Given the description of an element on the screen output the (x, y) to click on. 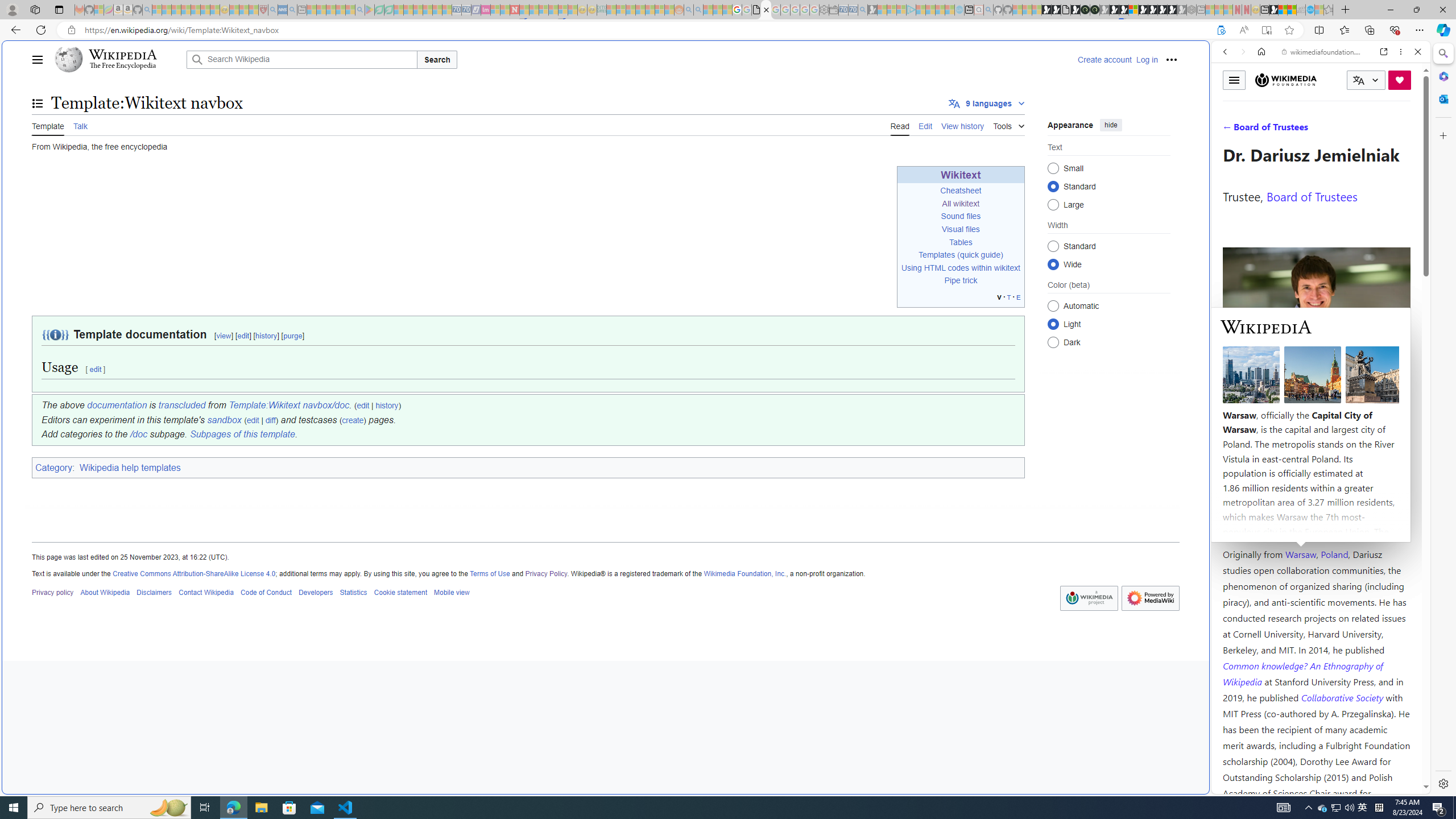
Common knowledge? An Ethnography of Wikipedia (1302, 672)
Warsaw (1300, 554)
Sound files (960, 216)
